Given the description of an element on the screen output the (x, y) to click on. 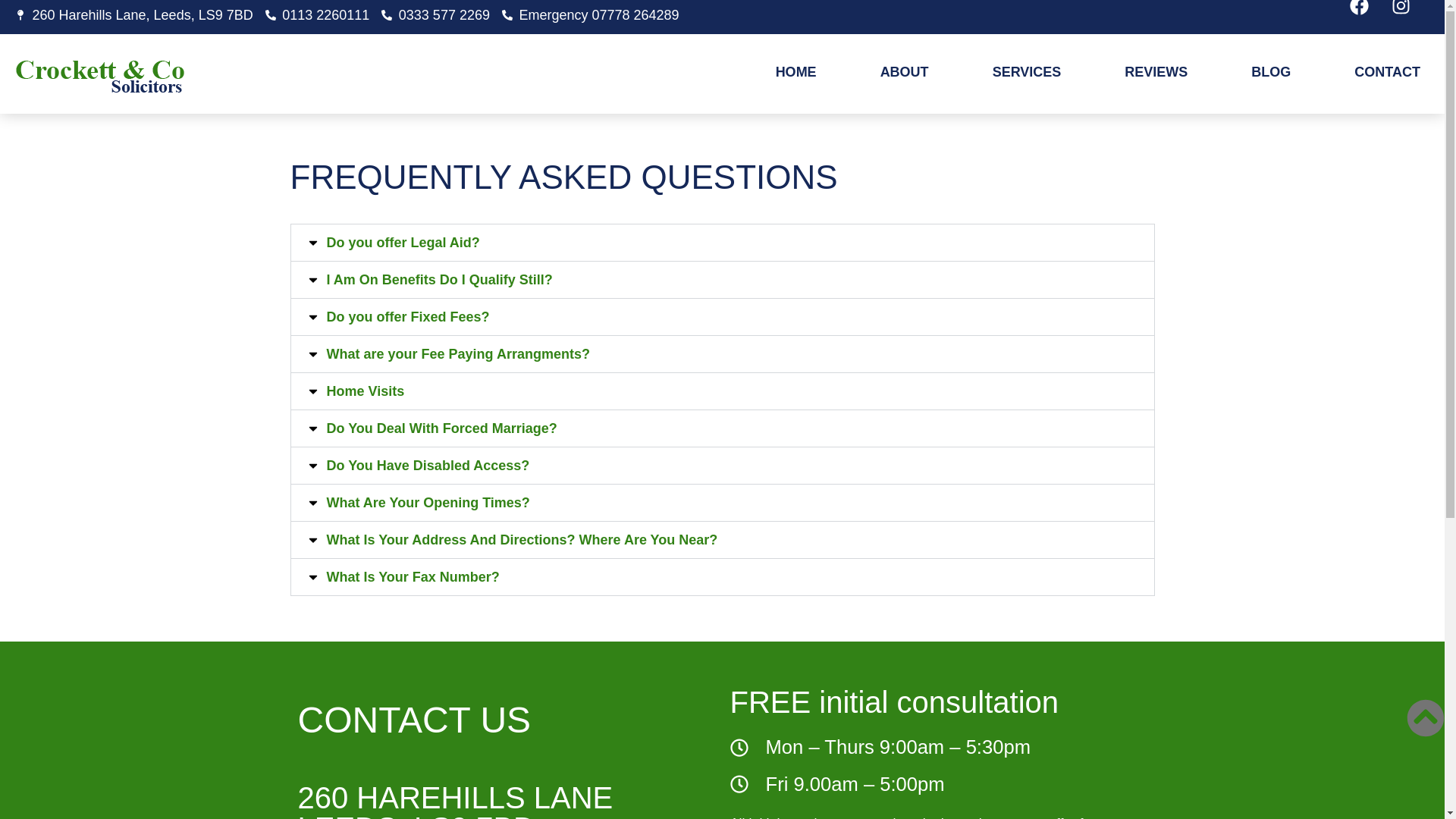
HOME (796, 71)
ABOUT (904, 71)
BLOG (1270, 71)
SERVICES (1027, 71)
0333 577 2269 (435, 14)
0113 2260111 (316, 14)
Emergency 07778 264289 (590, 14)
REVIEWS (1155, 71)
